Given the description of an element on the screen output the (x, y) to click on. 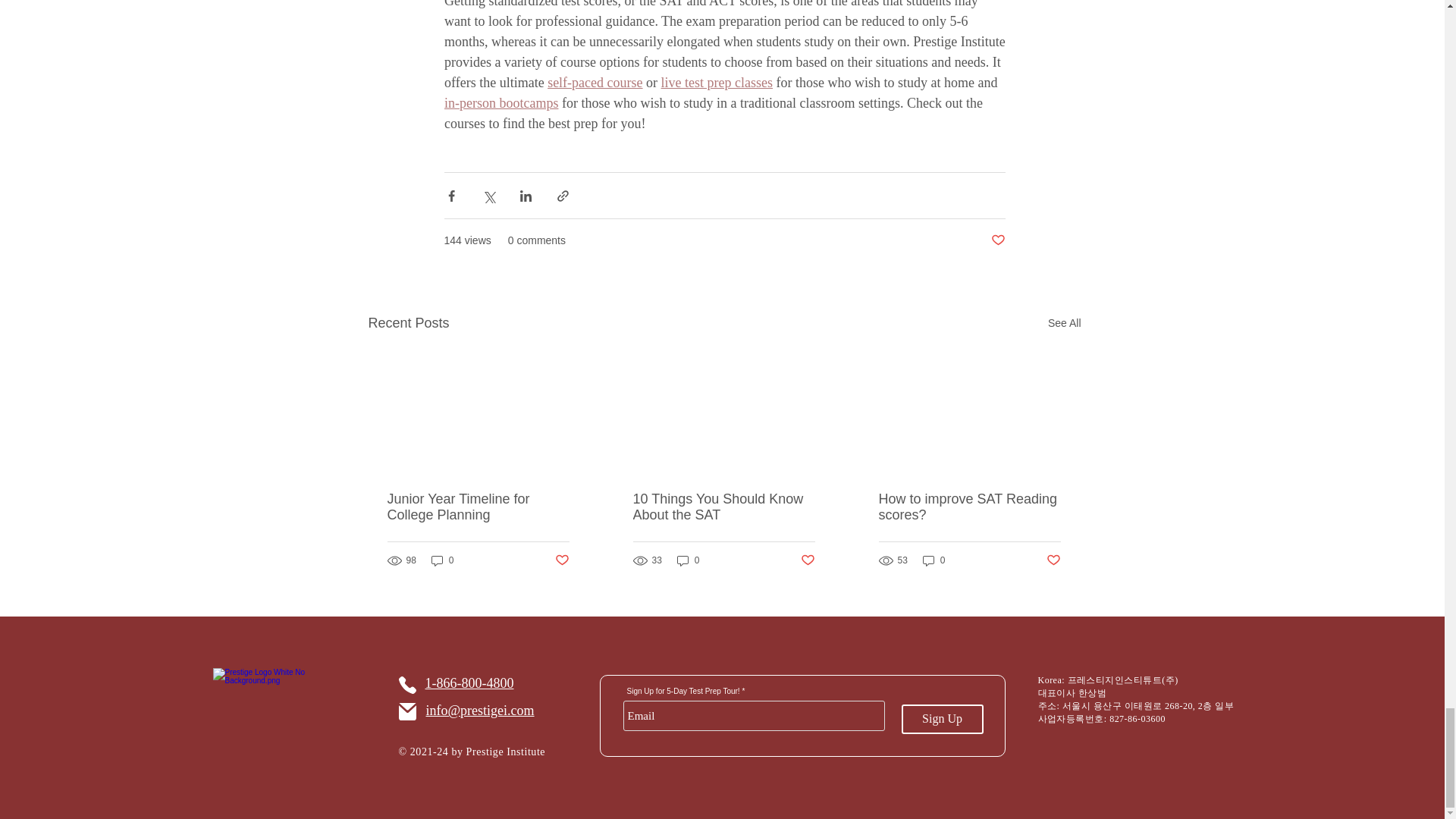
self-paced course (594, 82)
live test prep classes (716, 82)
in-person bootcamps (500, 102)
See All (1064, 323)
Post not marked as liked (997, 240)
